Given the description of an element on the screen output the (x, y) to click on. 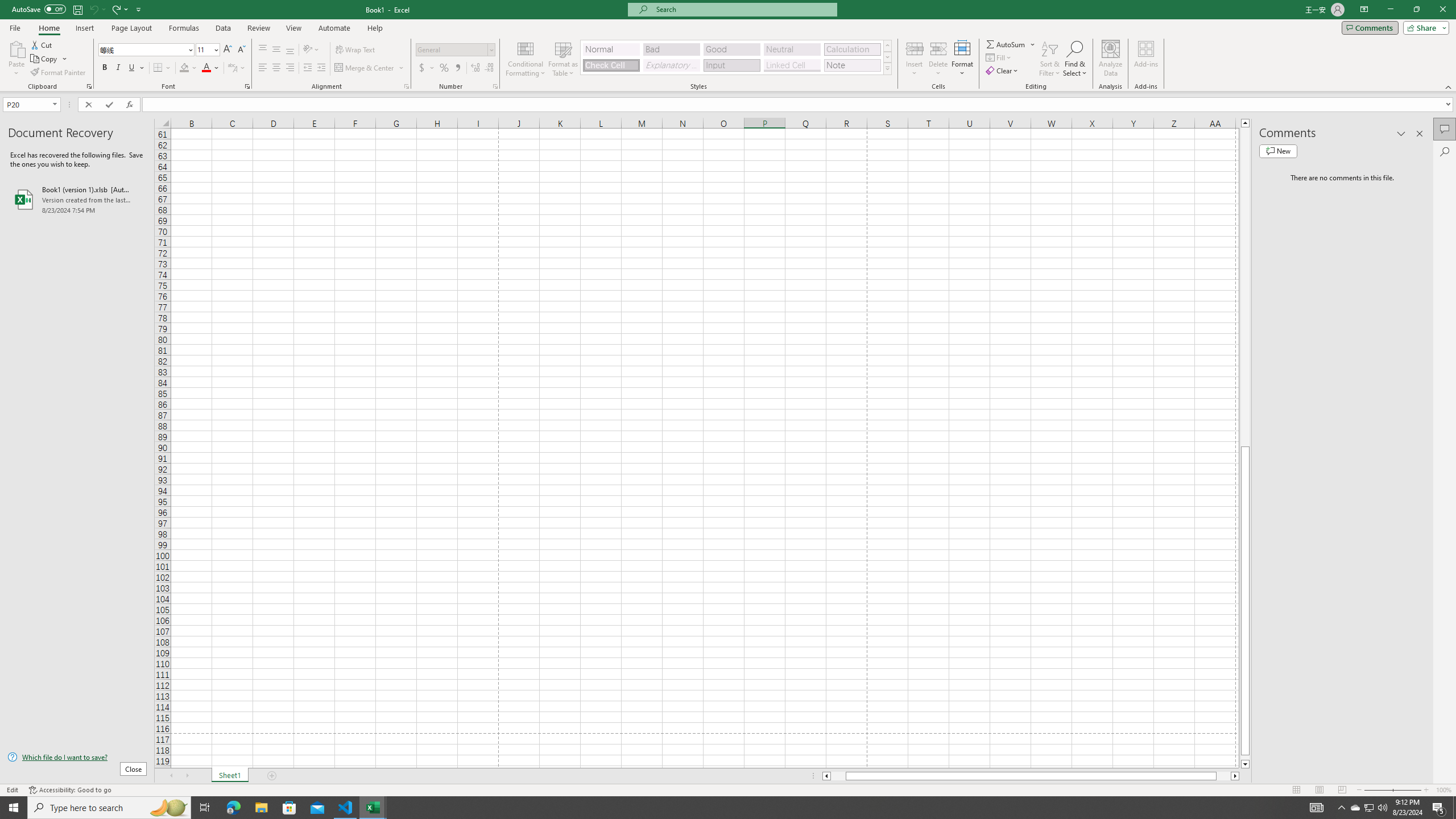
Underline (136, 67)
Sum (1006, 44)
Note (852, 65)
AutoSum (1011, 44)
Accounting Number Format (426, 67)
Sort & Filter (1049, 58)
